Given the description of an element on the screen output the (x, y) to click on. 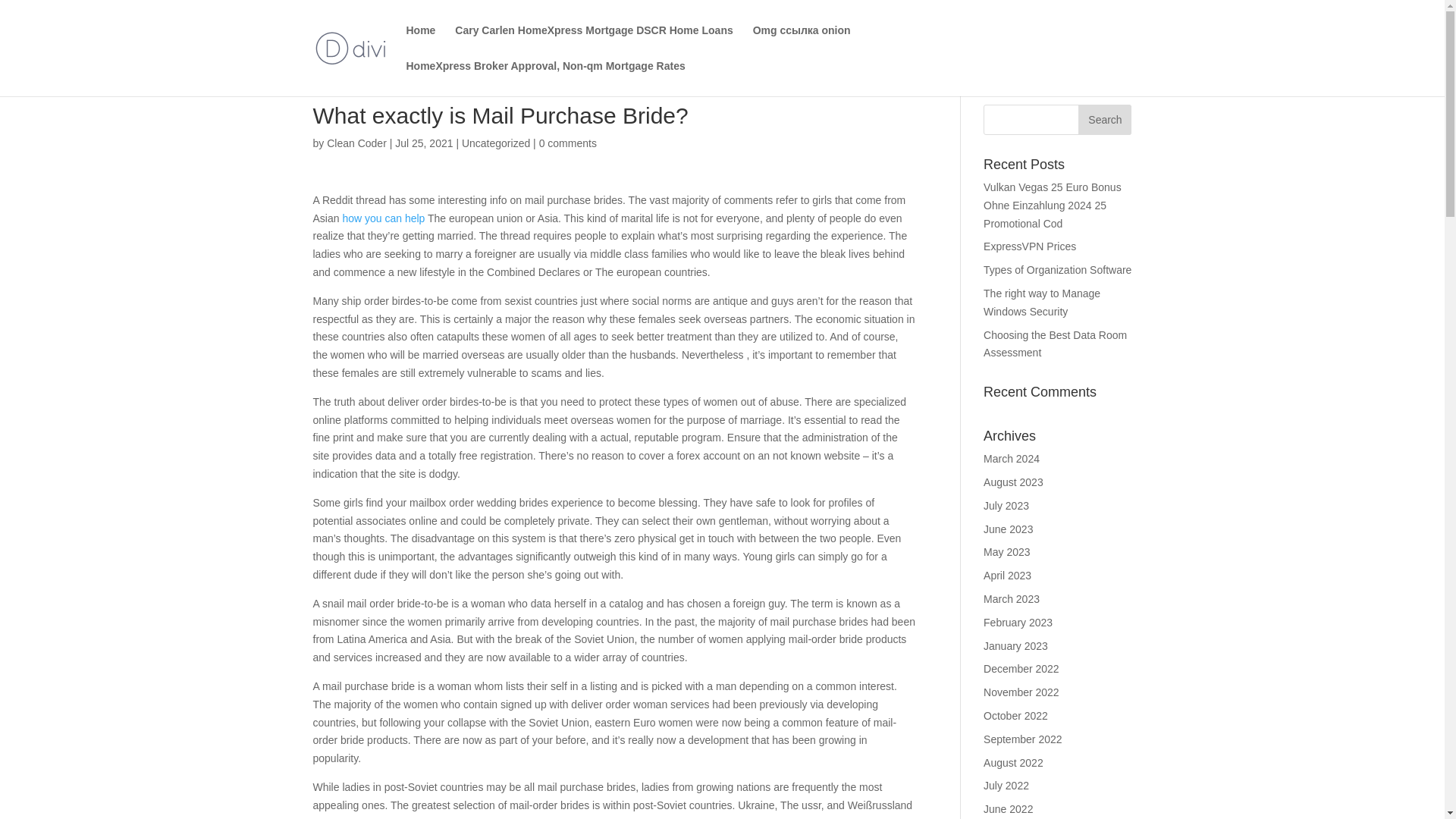
Cary Carlen HomeXpress Mortgage DSCR Home Loans (593, 42)
July 2022 (1006, 785)
Uncategorized (495, 143)
October 2022 (1016, 715)
December 2022 (1021, 668)
ExpressVPN Prices (1029, 246)
Search (1104, 119)
The right way to Manage Windows Security (1042, 302)
September 2022 (1023, 739)
Types of Organization Software (1057, 269)
March 2024 (1011, 458)
Posts by Clean Coder (356, 143)
April 2023 (1007, 575)
HomeXpress Broker Approval, Non-qm Mortgage Rates (545, 78)
